Given the description of an element on the screen output the (x, y) to click on. 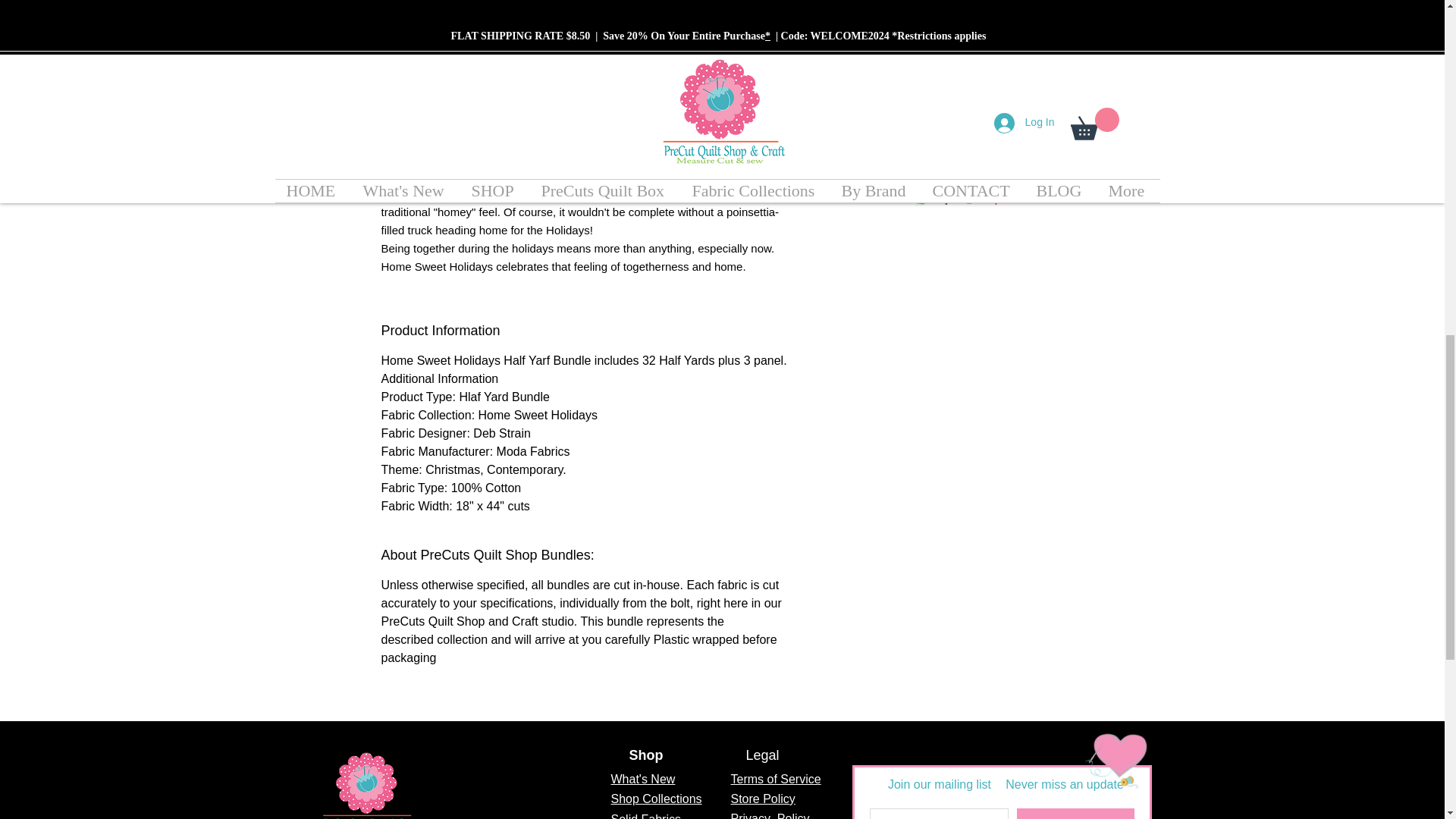
1 (959, 108)
Contact us (1110, 749)
Precuts Quilt Shop Online Fabric Store (367, 783)
